Given the description of an element on the screen output the (x, y) to click on. 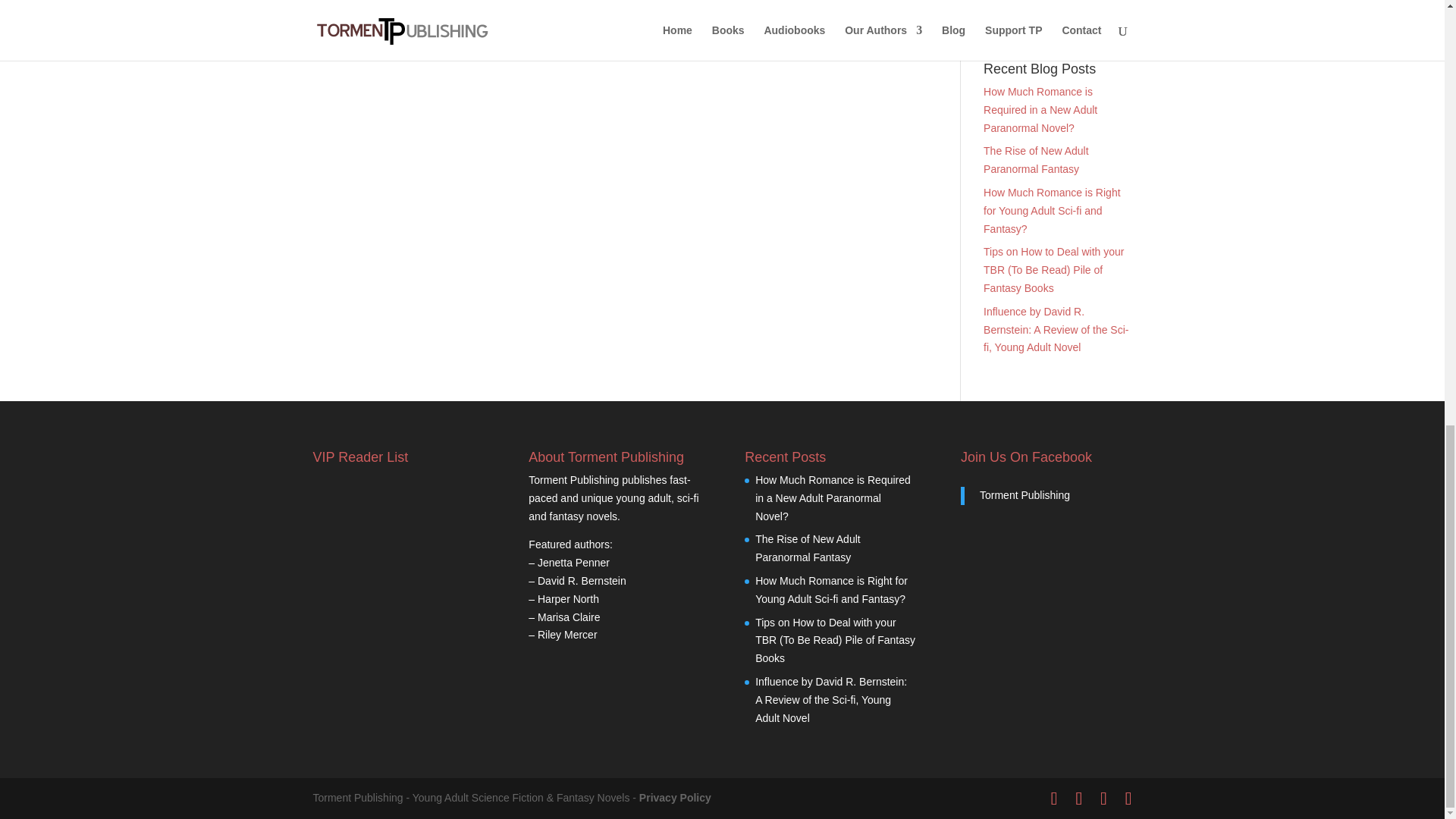
The Rise of New Adult Paranormal Fantasy (1036, 159)
The Rise of New Adult Paranormal Fantasy (807, 548)
